Given the description of an element on the screen output the (x, y) to click on. 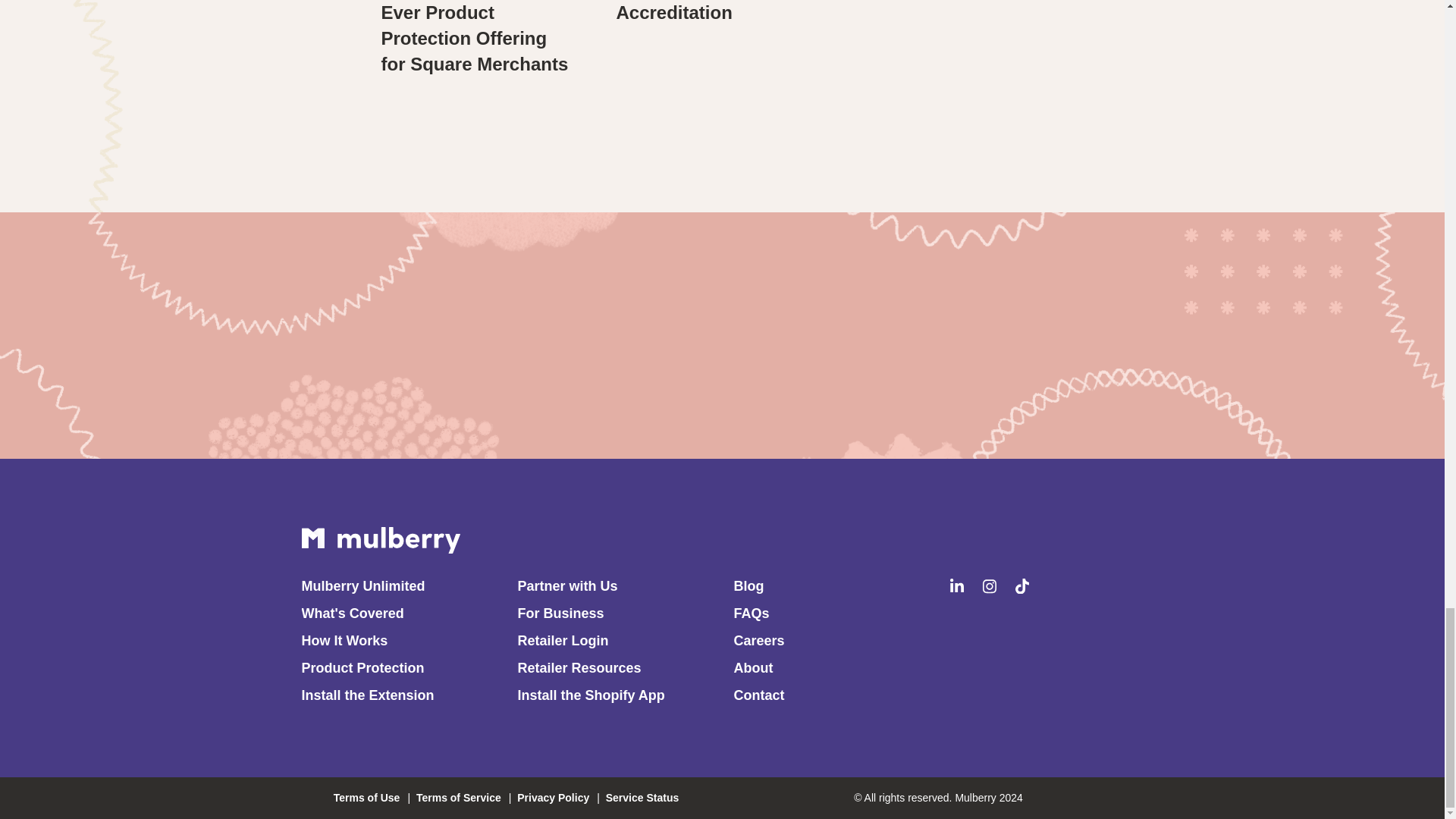
Mulberry wins Better Business Bureau Accreditation (704, 11)
What's Covered (352, 613)
How It Works (344, 640)
Install the Extension (367, 694)
Install the Shopify App (589, 694)
For Business (560, 613)
Partner with Us (566, 585)
Product Protection (363, 667)
Retailer Resources (578, 667)
